Given the description of an element on the screen output the (x, y) to click on. 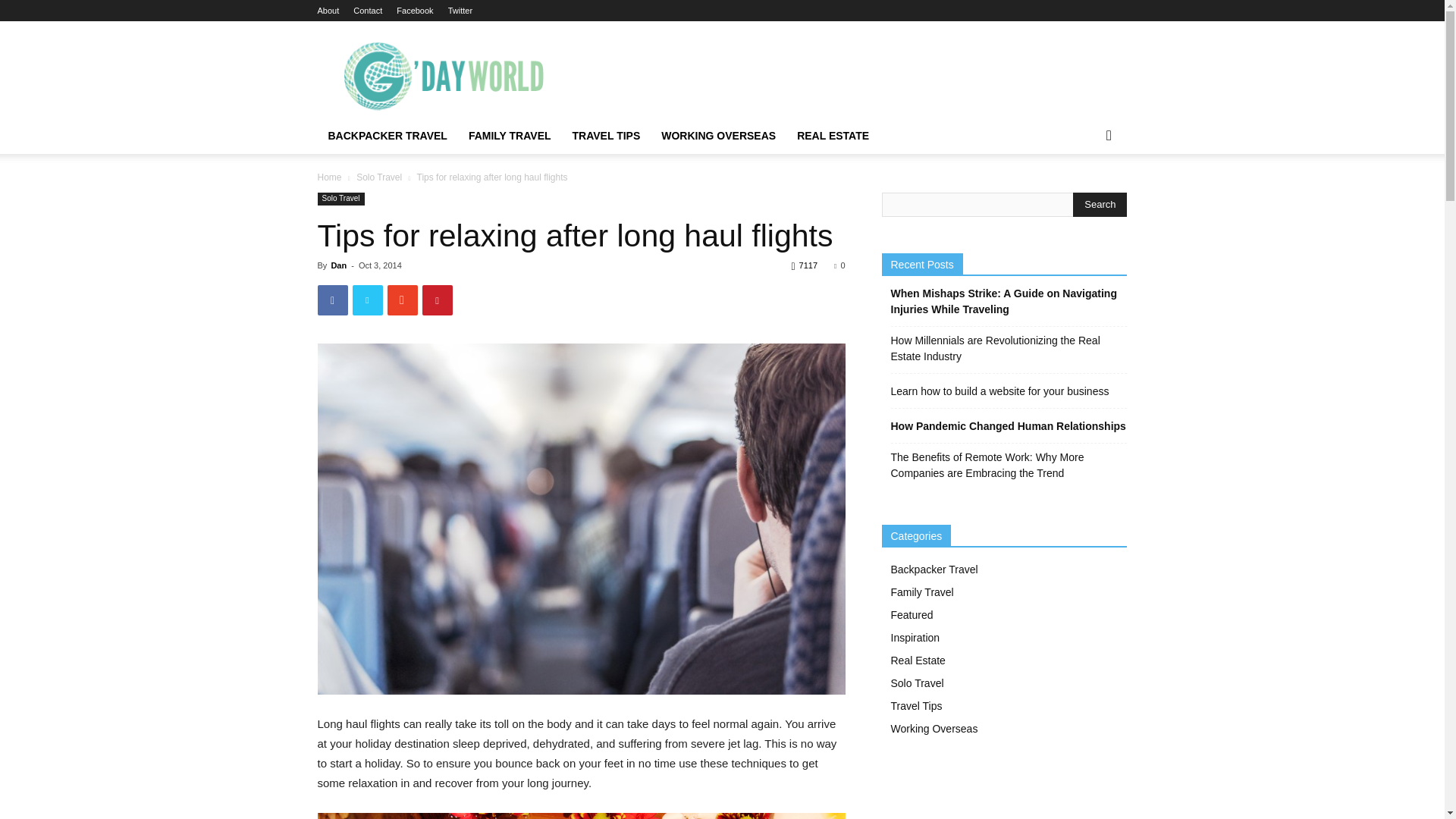
Search (1099, 204)
Contact (367, 10)
REAL ESTATE (832, 135)
Solo Travel (378, 176)
Search (1085, 196)
About (328, 10)
TRAVEL TIPS (606, 135)
Dan (338, 265)
Twitter (459, 10)
FAMILY TRAVEL (510, 135)
BACKPACKER TRAVEL (387, 135)
Home (328, 176)
Solo Travel (340, 198)
Facebook (414, 10)
0 (839, 265)
